Given the description of an element on the screen output the (x, y) to click on. 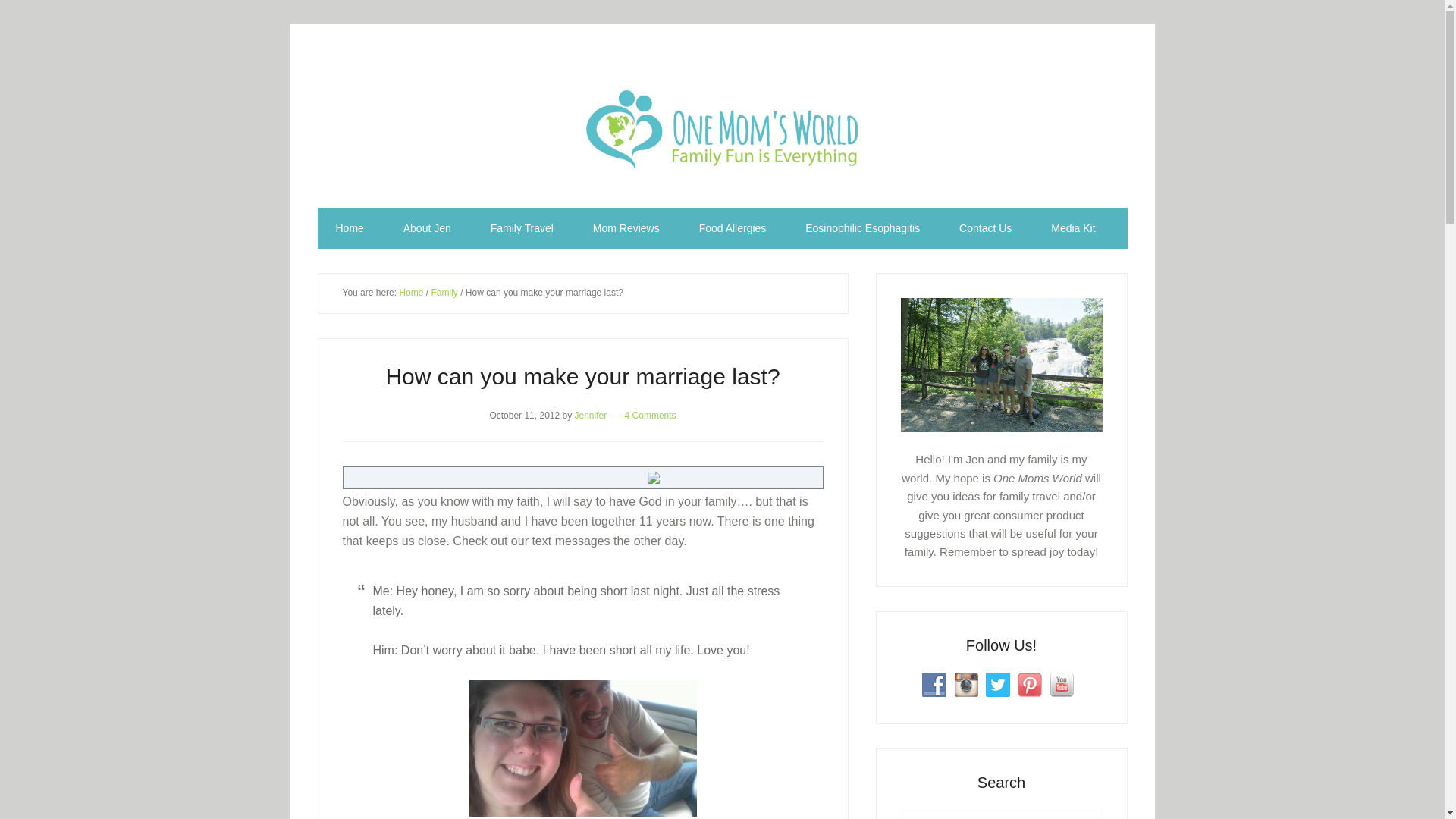
Follow Us on Instagram (965, 684)
Eosinophilic Esophagitis (862, 228)
Mom Reviews (626, 228)
Follow Us on YouTube (1061, 684)
Home (349, 228)
Follow Us on Pinterest (1029, 684)
4 Comments (650, 414)
Food Allergies (732, 228)
Follow Us on Facebook (933, 684)
Follow Us on Twitter (997, 684)
Family Travel (521, 228)
Contact Us (984, 228)
Media Kit (1072, 228)
One Moms World Mom Blog - Jen Houck (721, 129)
